Given the description of an element on the screen output the (x, y) to click on. 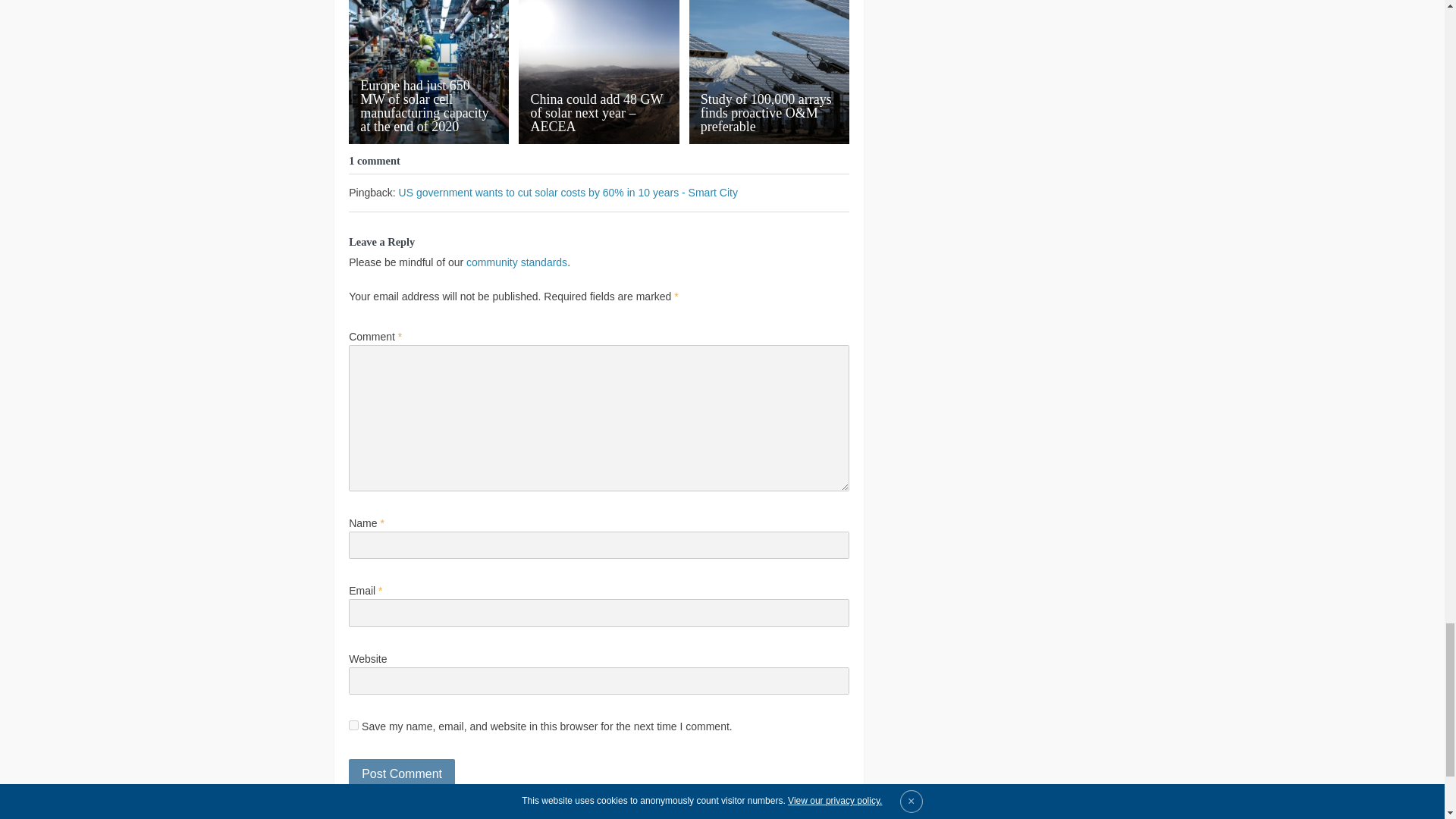
yes (353, 725)
Post Comment (401, 774)
